Given the description of an element on the screen output the (x, y) to click on. 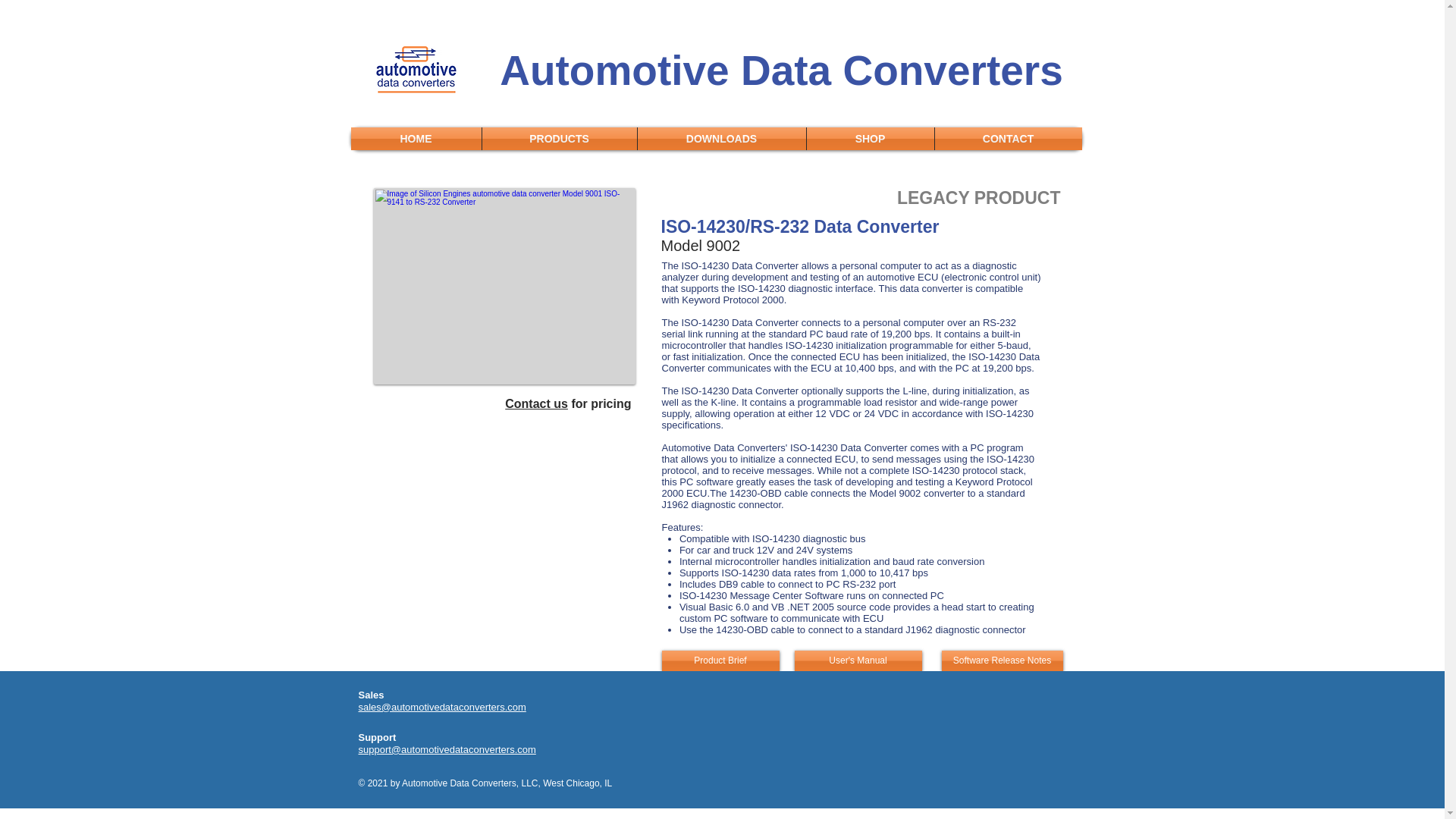
User's Manual (857, 660)
SHOP (870, 138)
DOWNLOADS (721, 138)
Contact us (536, 403)
Model 9002 - 14230 to 232 Data Converter (503, 286)
Software Release Notes (1002, 660)
Sales (371, 695)
HOME (415, 138)
PRODUCTS (559, 138)
Support  (377, 737)
